Given the description of an element on the screen output the (x, y) to click on. 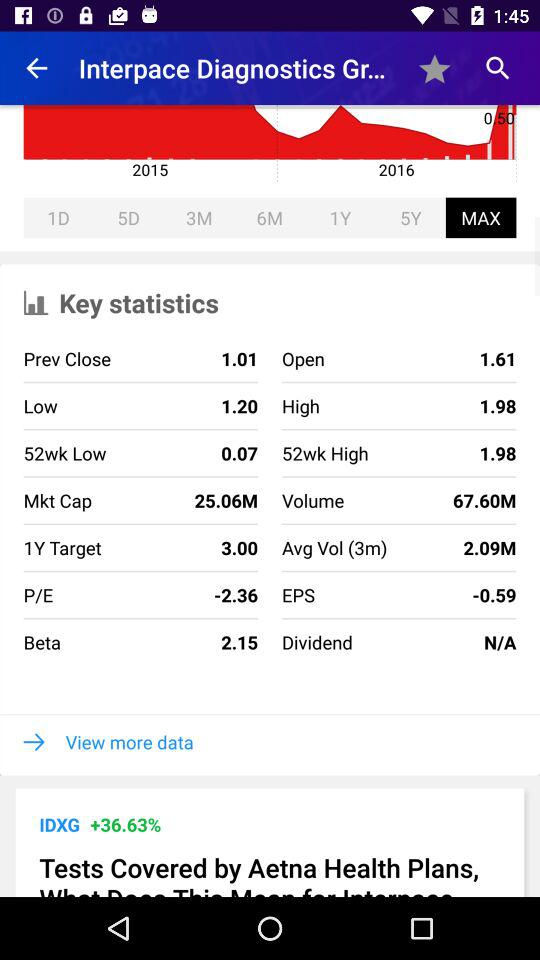
launch item next to 5d item (58, 217)
